Given the description of an element on the screen output the (x, y) to click on. 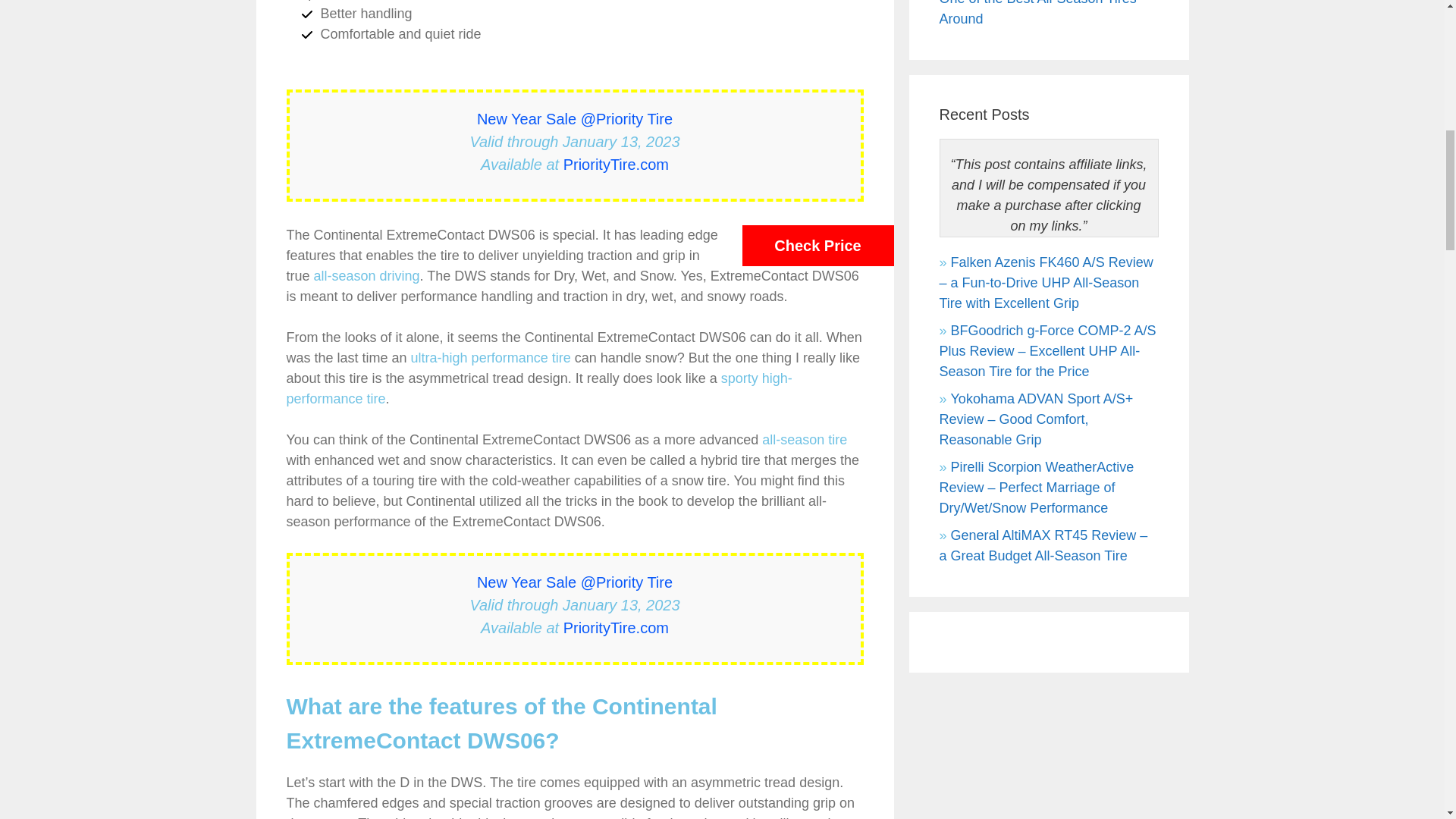
PriorityTire.com (615, 164)
sporty high-performance tire (539, 388)
Check Price (817, 245)
all-season tire (804, 439)
all-season driving (367, 275)
Scroll back to top (37, 659)
PriorityTire.com (615, 627)
ultra-high performance tire (490, 357)
